Given the description of an element on the screen output the (x, y) to click on. 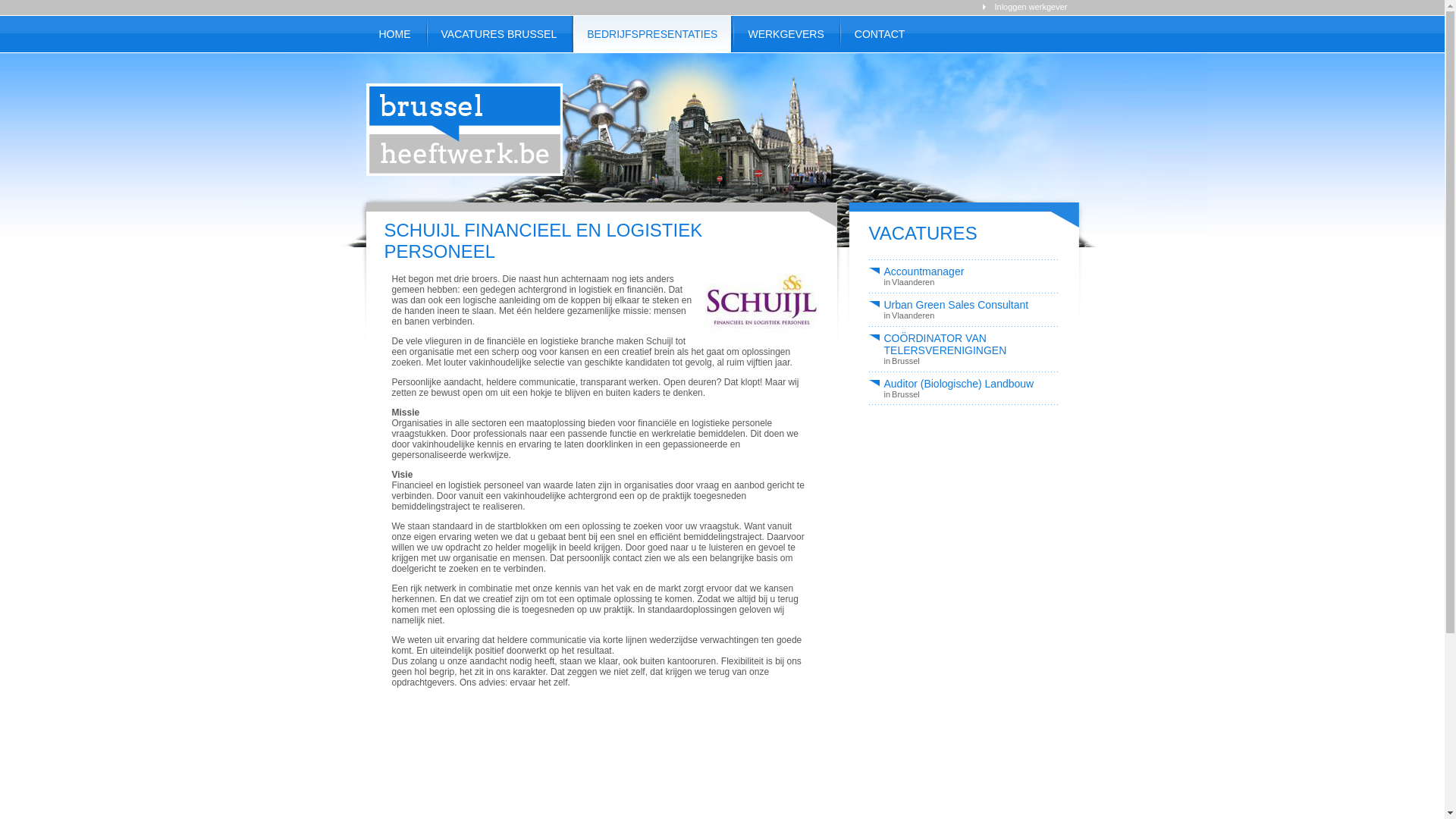
CONTACT Element type: text (879, 33)
Advertisement Element type: hover (900, 105)
Urban Green Sales Consultant Element type: text (956, 304)
Inloggen werkgever Element type: text (1030, 6)
WERKGEVERS Element type: text (785, 33)
Auditor (Biologische) Landbouw Element type: text (956, 383)
VACATURES BRUSSEL Element type: text (499, 33)
BEDRIJFSPRESENTATIES Element type: text (651, 33)
HOME Element type: text (395, 33)
Accountmanager Element type: text (956, 271)
Schuijl Financieel en Logistiek Personeel Element type: hover (758, 338)
